Given the description of an element on the screen output the (x, y) to click on. 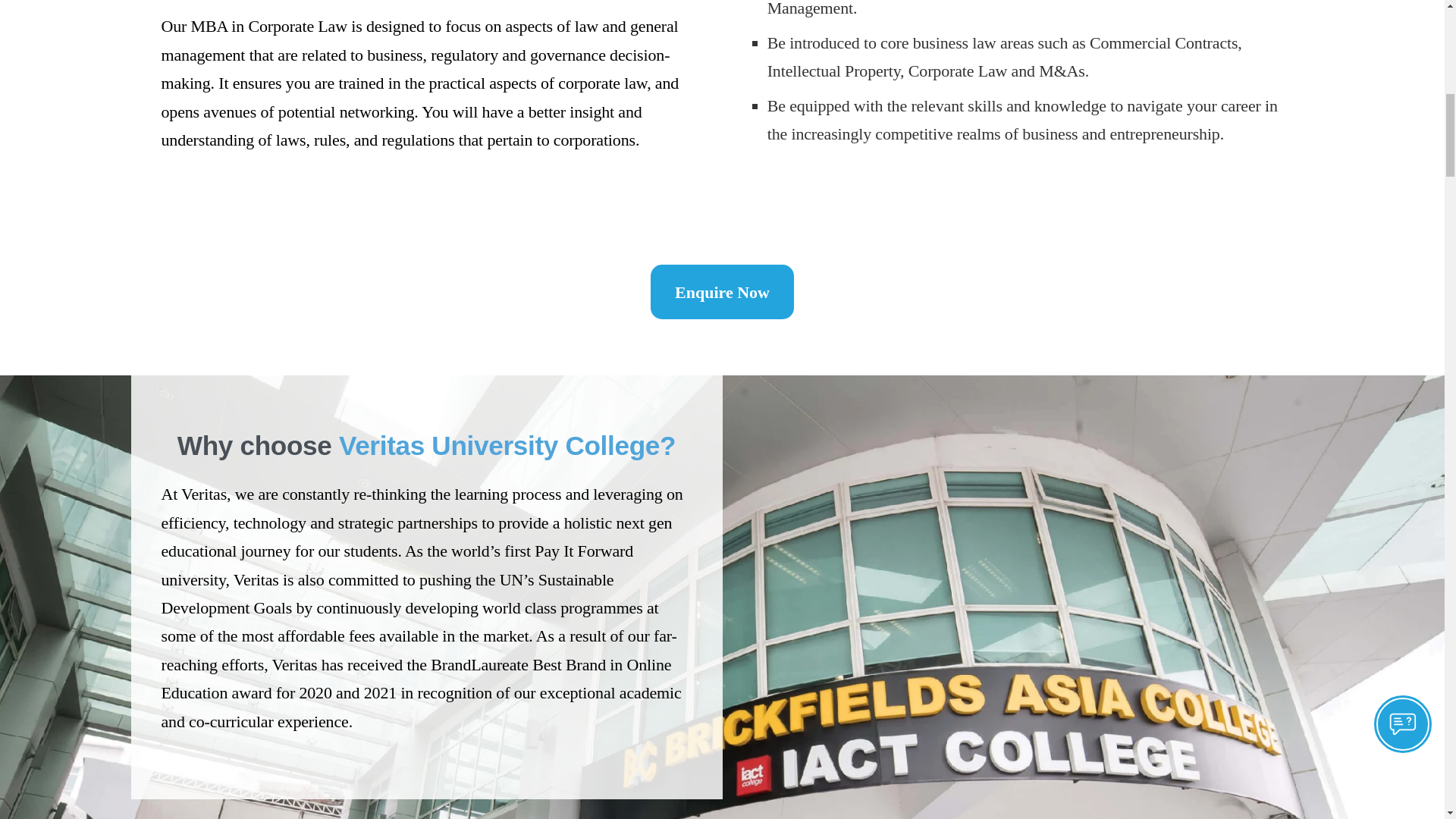
Enquire Now (721, 291)
